Given the description of an element on the screen output the (x, y) to click on. 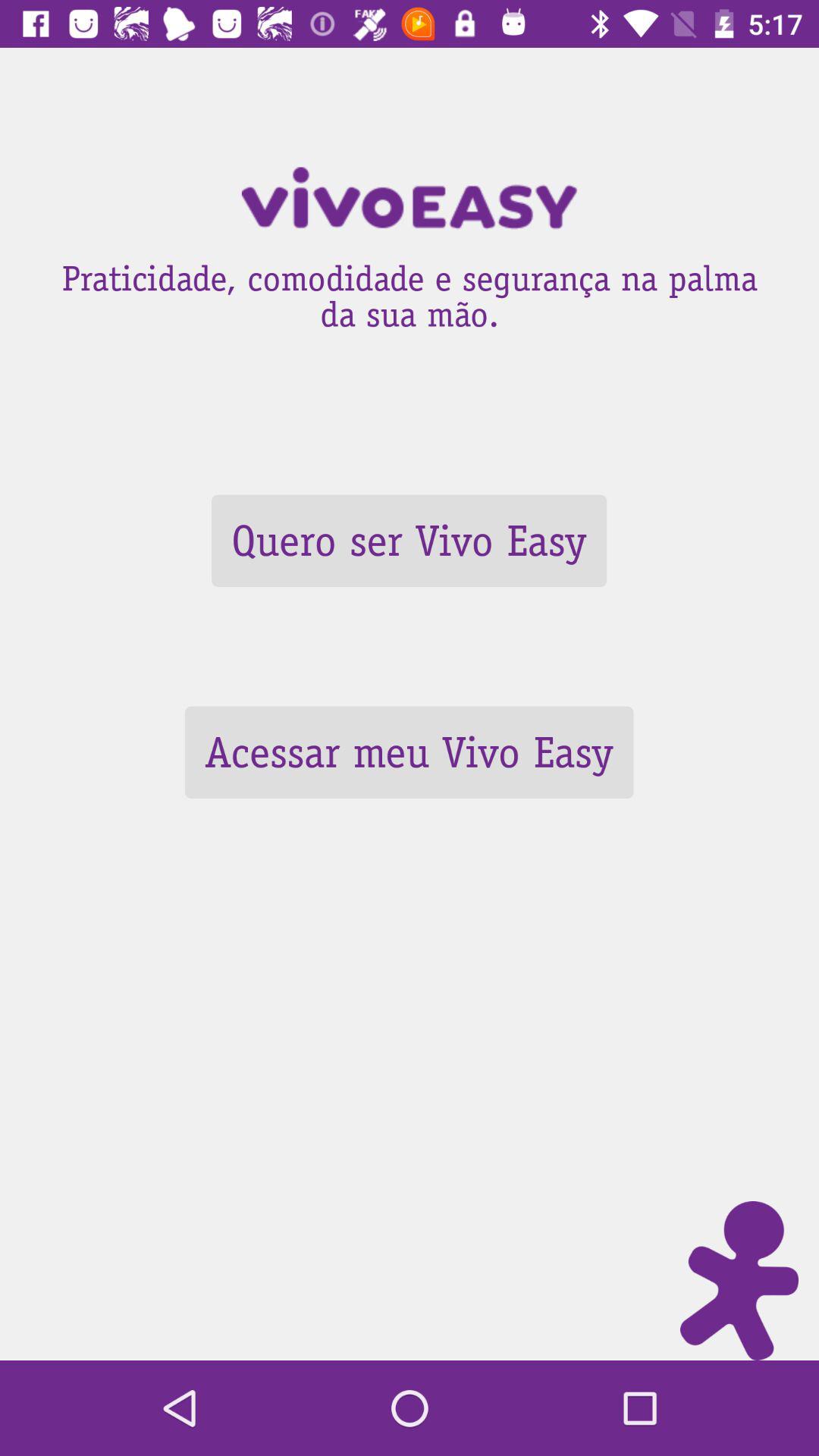
select the praticidade comodidade e (409, 290)
